Given the description of an element on the screen output the (x, y) to click on. 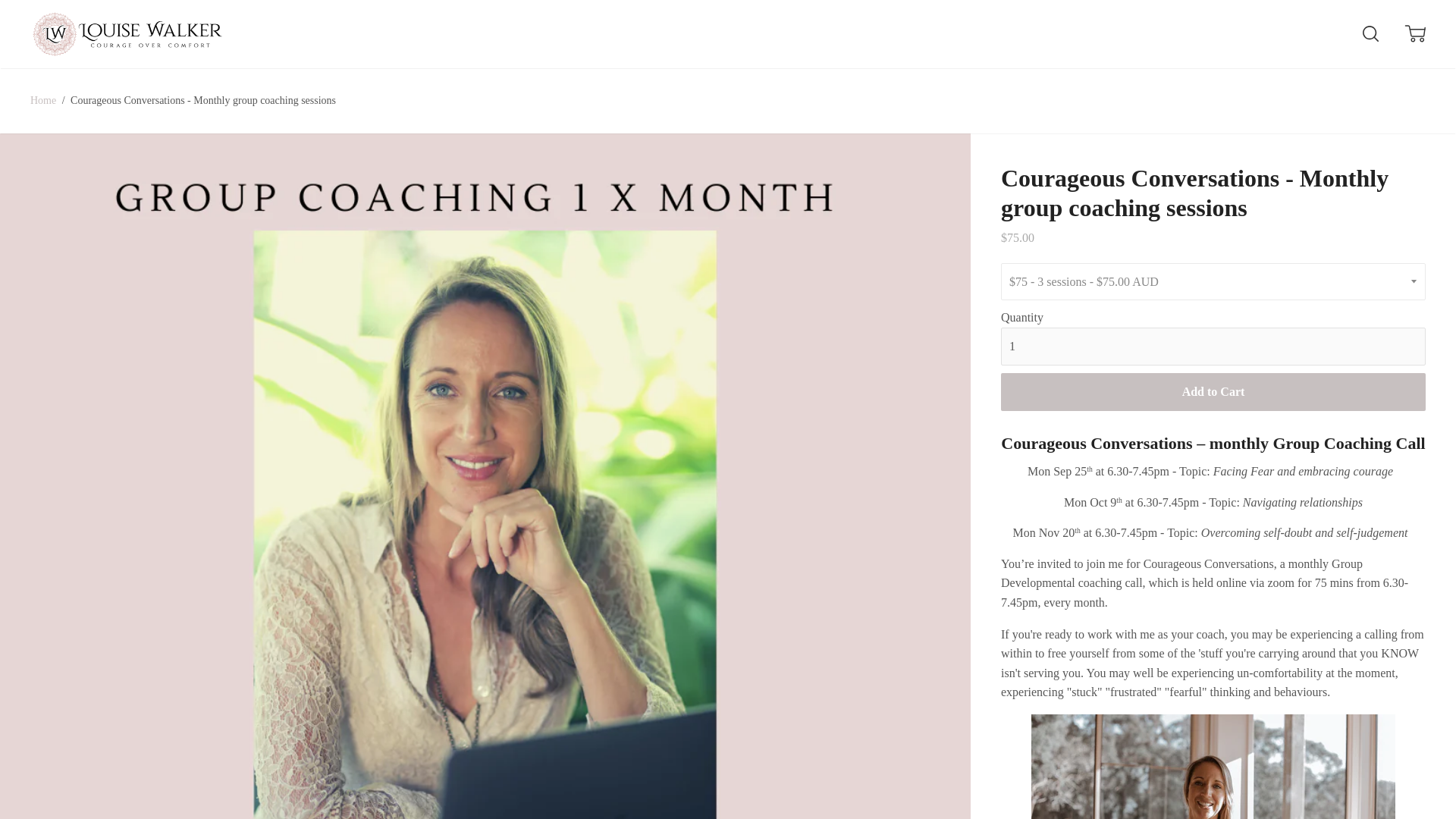
1 (1213, 346)
Home (44, 100)
Back to the frontpage (44, 100)
Add to Cart (1213, 392)
